Given the description of an element on the screen output the (x, y) to click on. 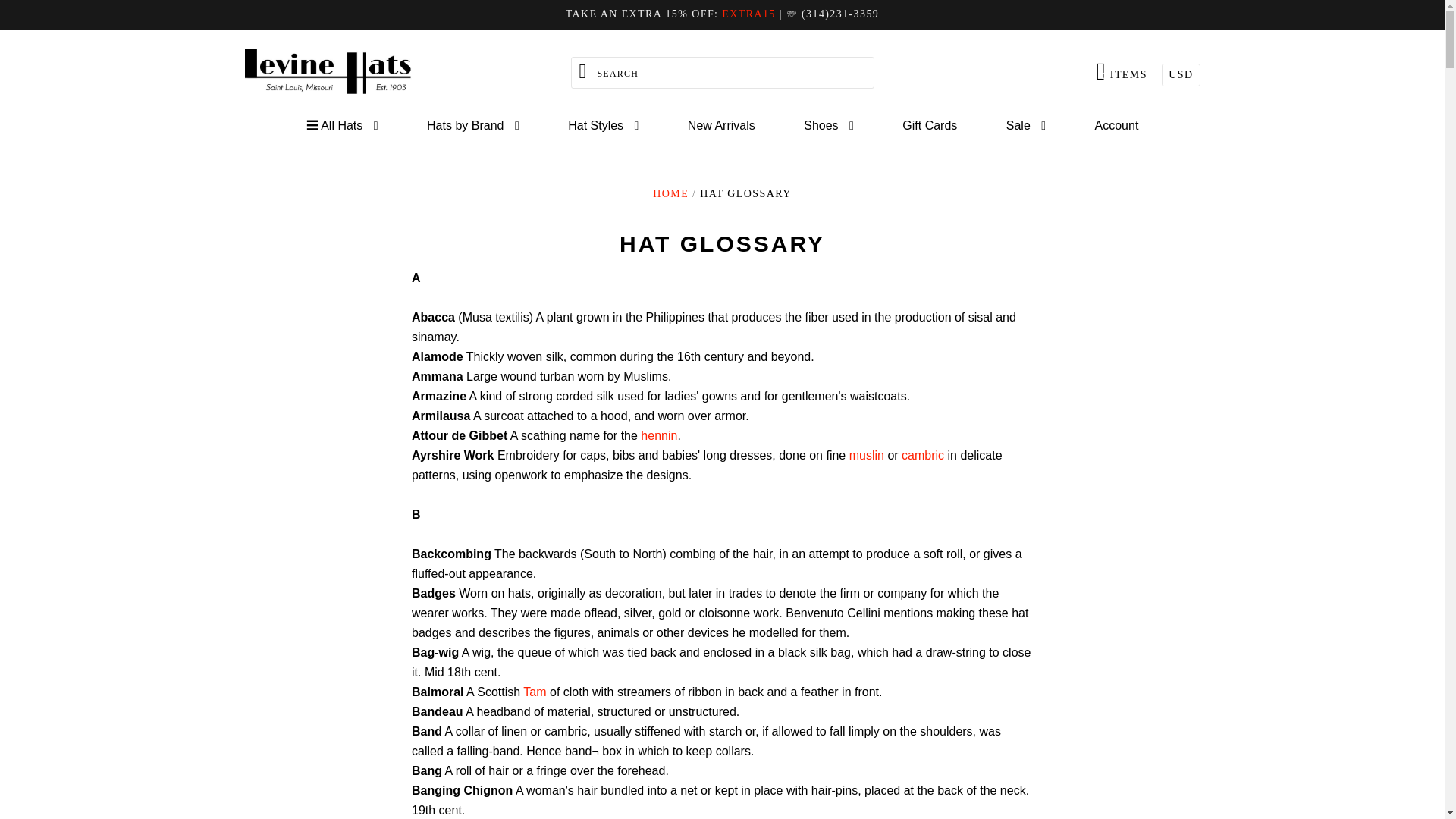
HOME (670, 193)
Hennin (658, 435)
EXTRA15 (747, 13)
Account (1121, 71)
cambric (1116, 125)
hennin (922, 454)
Tam (658, 435)
New Arrivals (534, 691)
Muslin (721, 125)
